Given the description of an element on the screen output the (x, y) to click on. 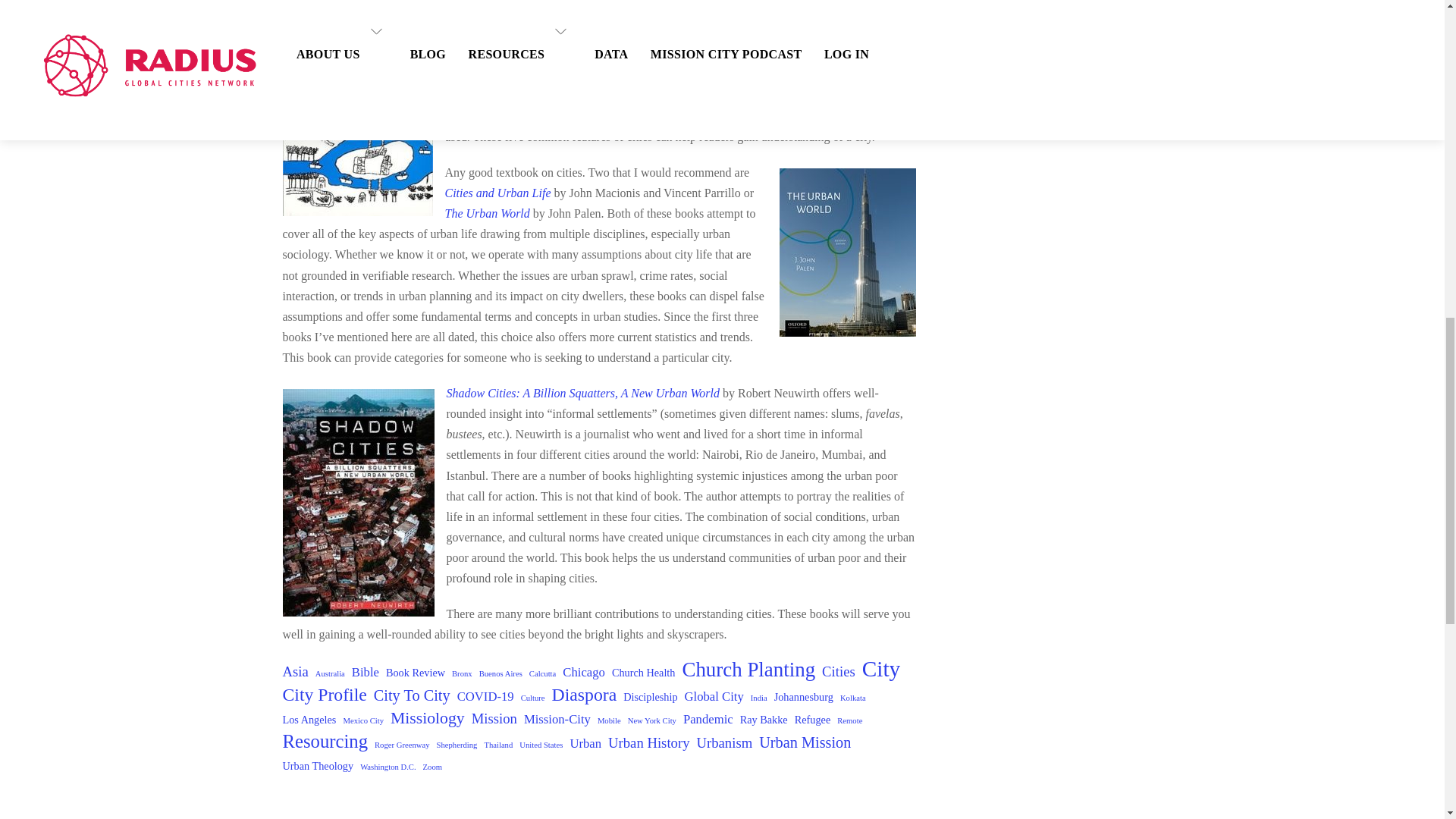
Asia (294, 670)
Shadow Cities: A Billion Squatters, A New Urban World (582, 392)
Calcutta (542, 673)
Bible (365, 671)
City (881, 669)
The Urban World (486, 213)
Bronx (461, 673)
Australia (330, 673)
Cities and Urban Life (497, 192)
Church Planting (748, 670)
